Given the description of an element on the screen output the (x, y) to click on. 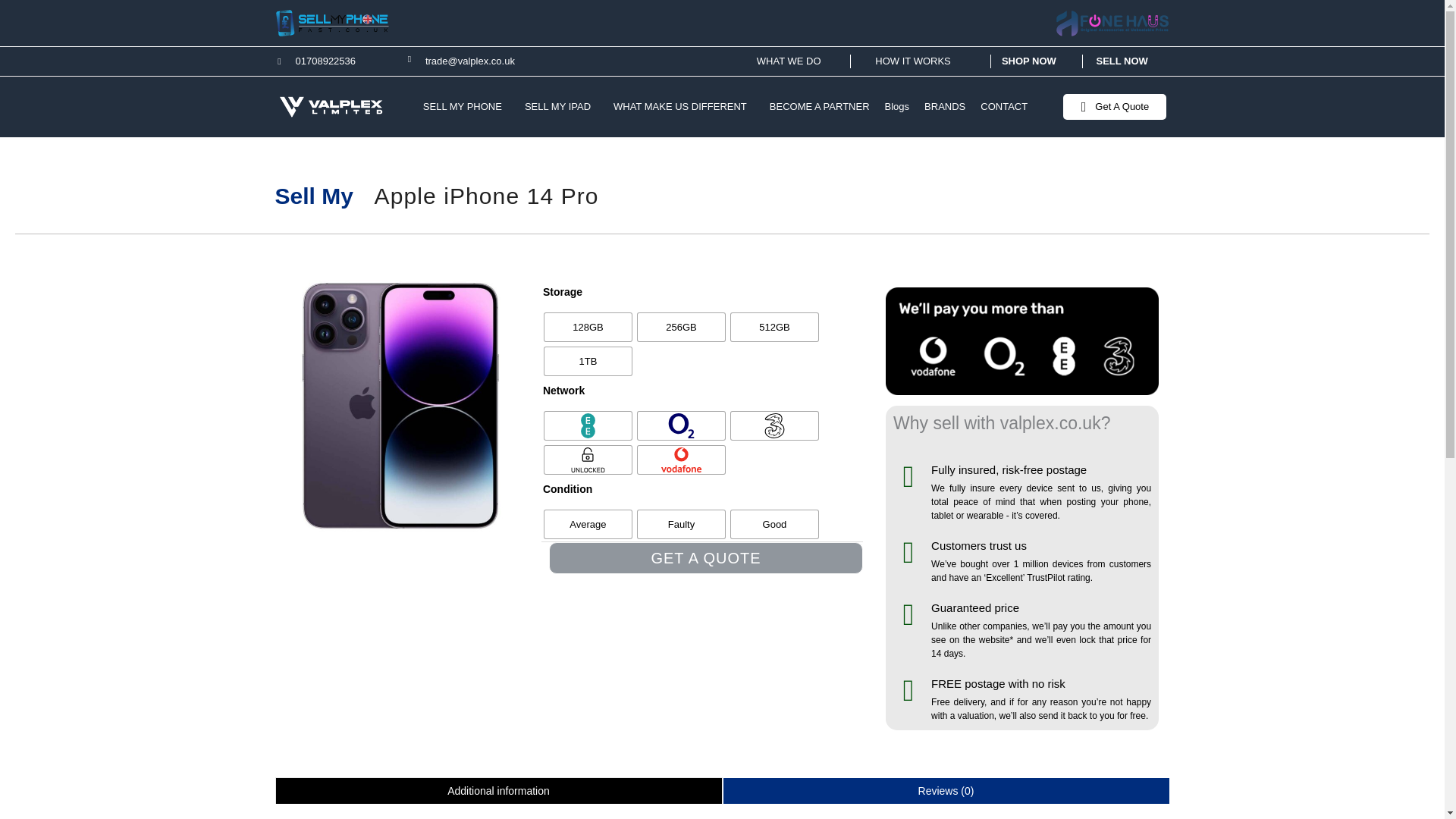
Average (587, 524)
01708922536 (325, 60)
Three (774, 425)
1TB (587, 361)
O2 (681, 425)
apple-iphone-14-pro-pakistan-priceoye-1qdxc (400, 405)
SHOP NOW (1029, 60)
EE (587, 425)
128GB (587, 326)
Faulty (681, 524)
HOW IT WORKS (912, 60)
Unlocked (587, 459)
SELL MY PHONE (465, 106)
WHAT WE DO (789, 60)
Vodafone (681, 459)
